Given the description of an element on the screen output the (x, y) to click on. 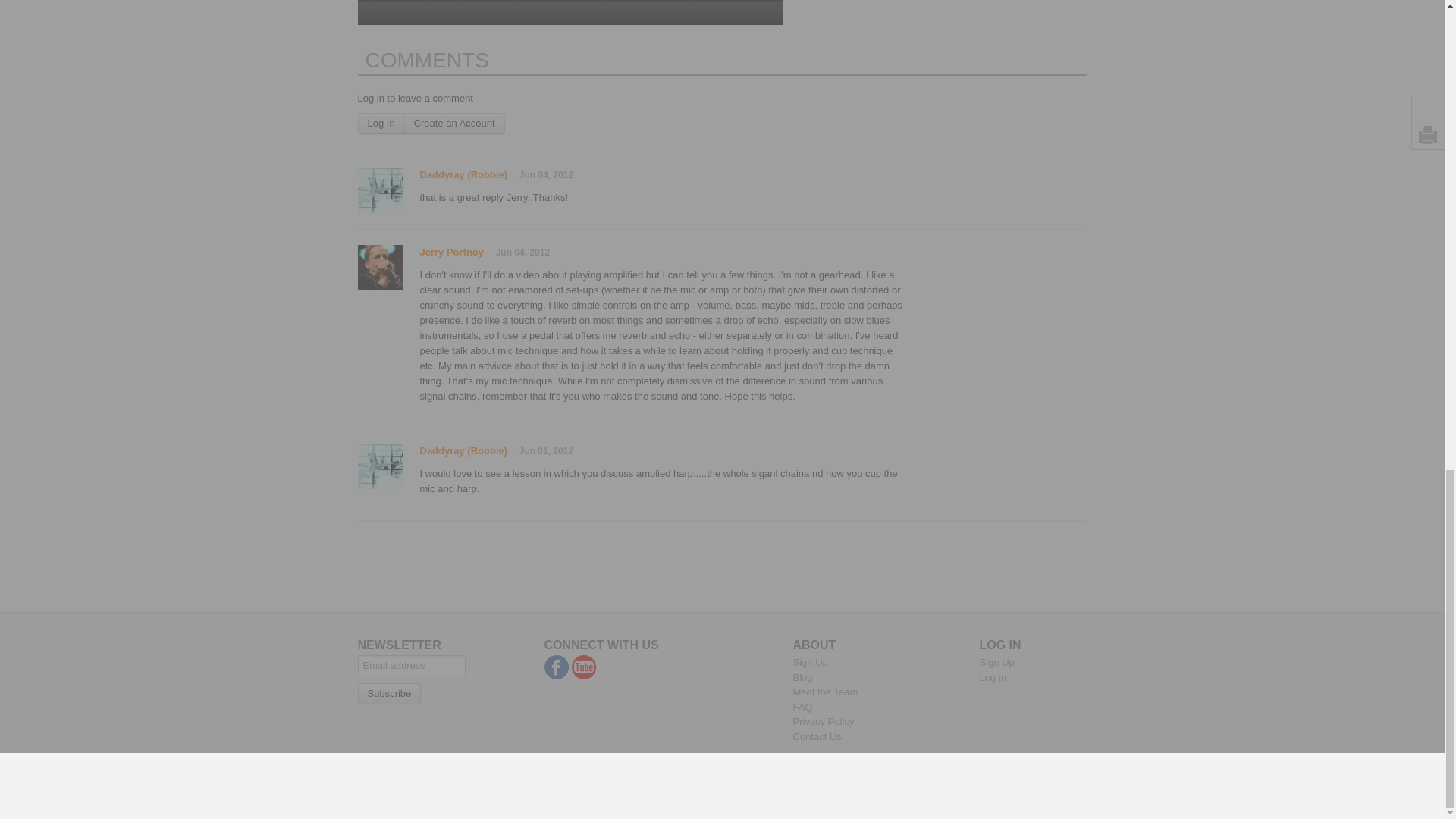
Create an Account (454, 123)
Log In (381, 123)
